Given the description of an element on the screen output the (x, y) to click on. 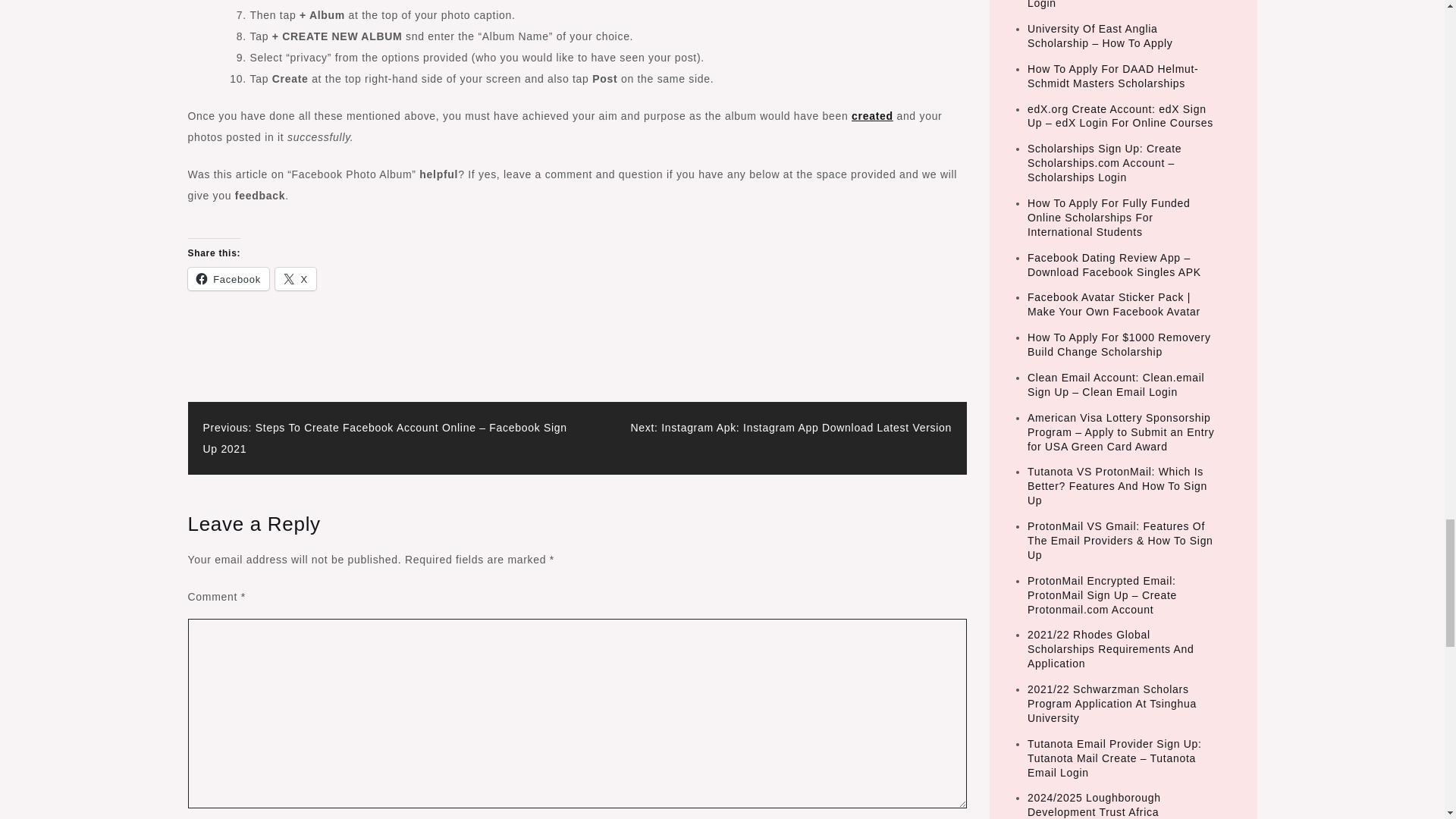
created (872, 115)
Click to share on X (295, 278)
X (295, 278)
Facebook (228, 278)
Click to share on Facebook (228, 278)
